Given the description of an element on the screen output the (x, y) to click on. 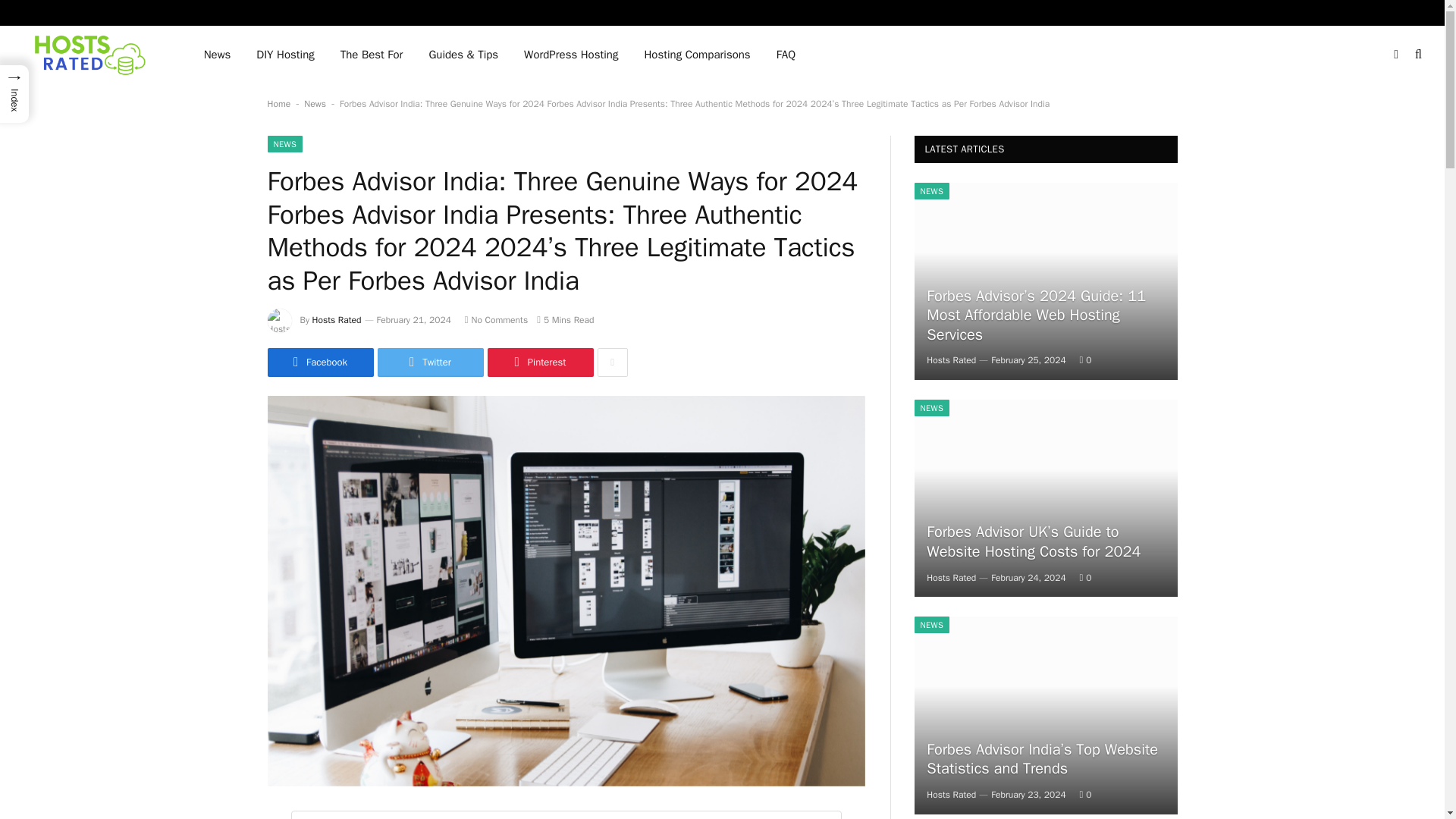
NEWS (284, 143)
Hosts Rated (93, 54)
Hosting Comparisons (696, 54)
DIY Hosting (284, 54)
Home (277, 103)
Facebook (319, 362)
Pinterest (539, 362)
No Comments (495, 319)
Share on Pinterest (539, 362)
The Best For (371, 54)
